Given the description of an element on the screen output the (x, y) to click on. 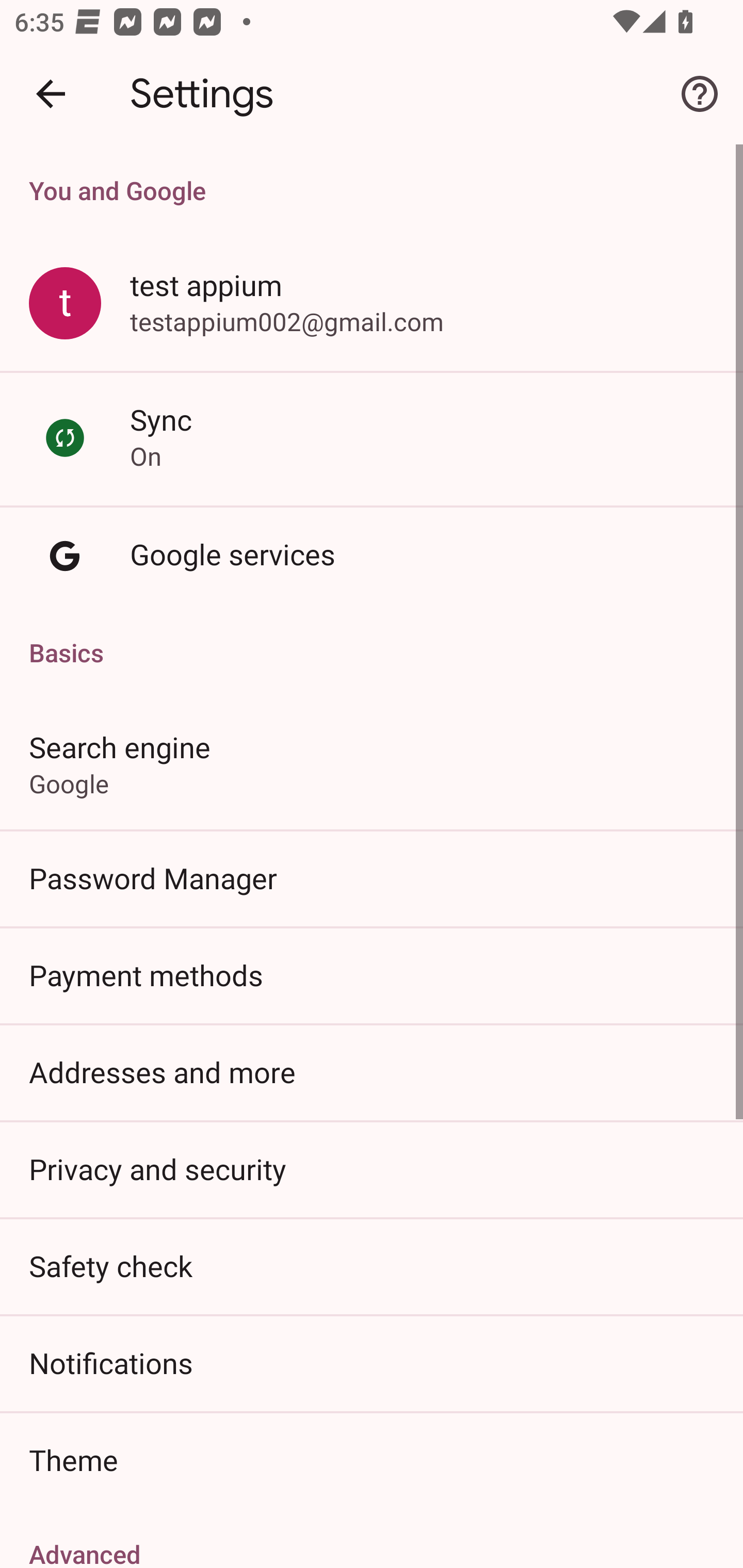
Navigate up (50, 93)
Help & feedback (699, 93)
test appium testappium002@gmail.com (371, 303)
Sync On (371, 437)
Google services (371, 555)
Search engine Google (371, 763)
Password Manager (371, 877)
Payment methods (371, 974)
Addresses and more (371, 1071)
Privacy and security (371, 1167)
Safety check (371, 1264)
Notifications (371, 1362)
Theme (371, 1459)
